Given the description of an element on the screen output the (x, y) to click on. 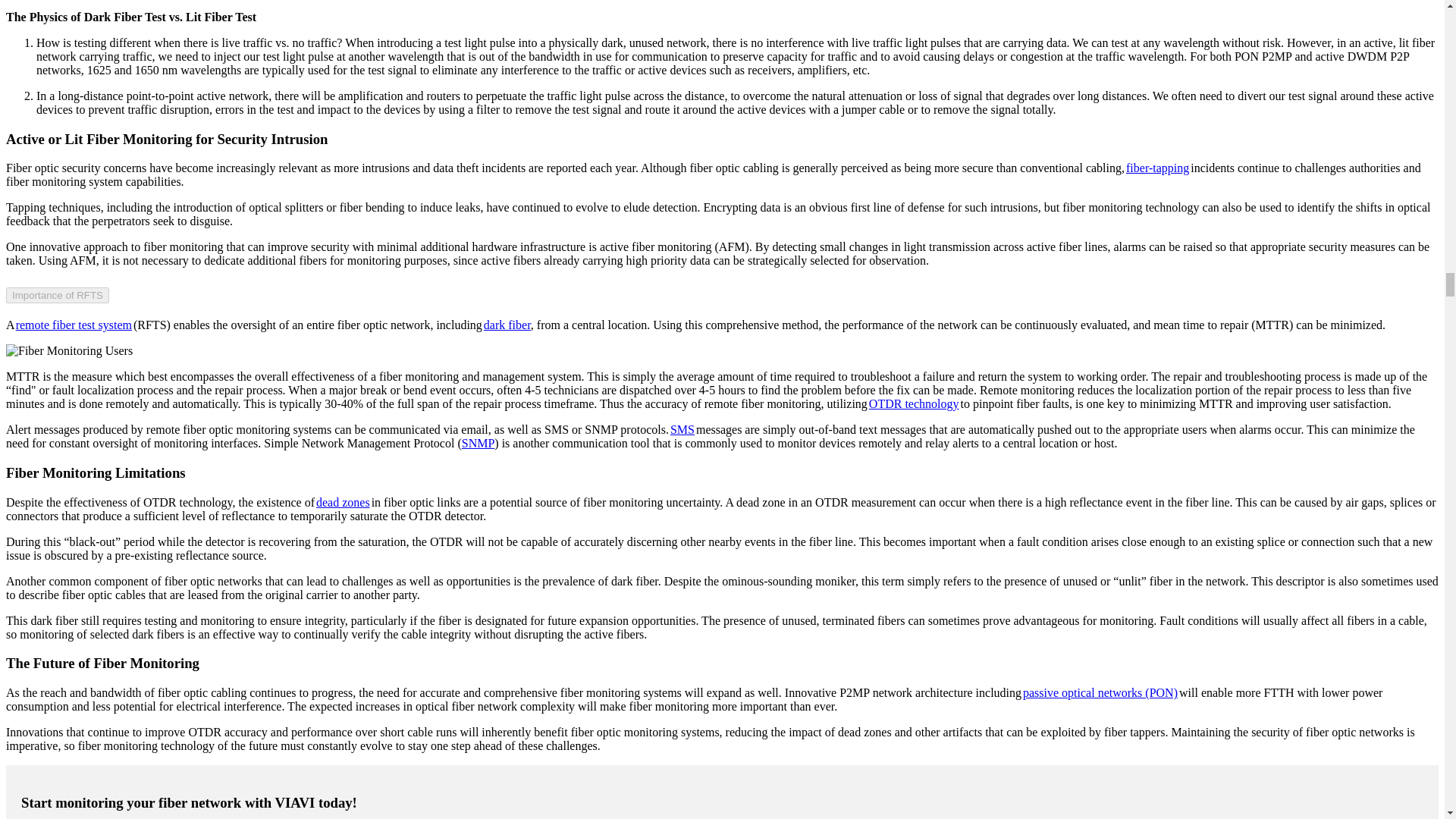
Fiber Monitoring Users (68, 350)
